Given the description of an element on the screen output the (x, y) to click on. 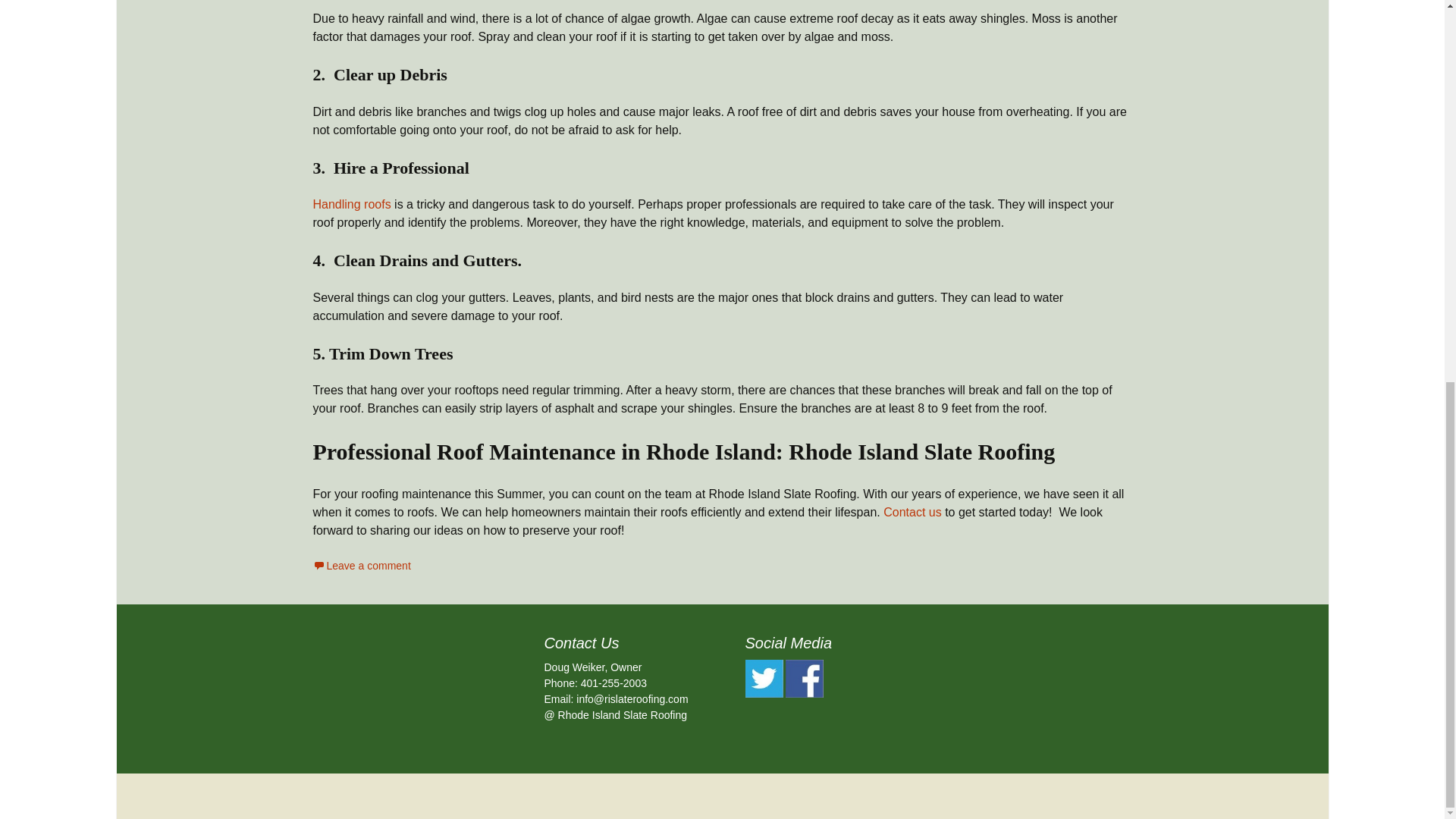
Handling roofs (351, 204)
Contact us (911, 512)
Leave a comment (361, 565)
